Given the description of an element on the screen output the (x, y) to click on. 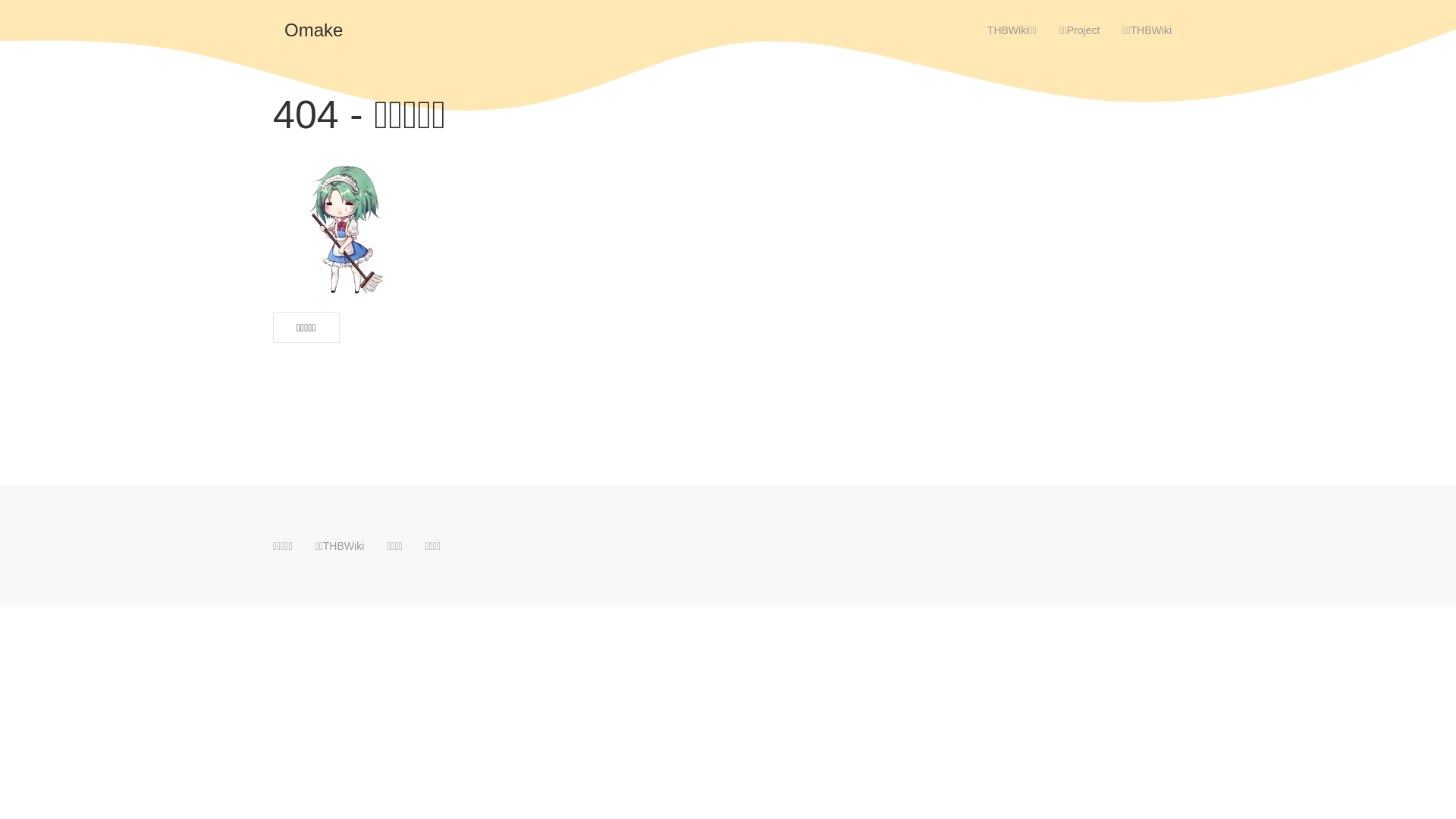
Omake Element type: text (313, 30)
